Given the description of an element on the screen output the (x, y) to click on. 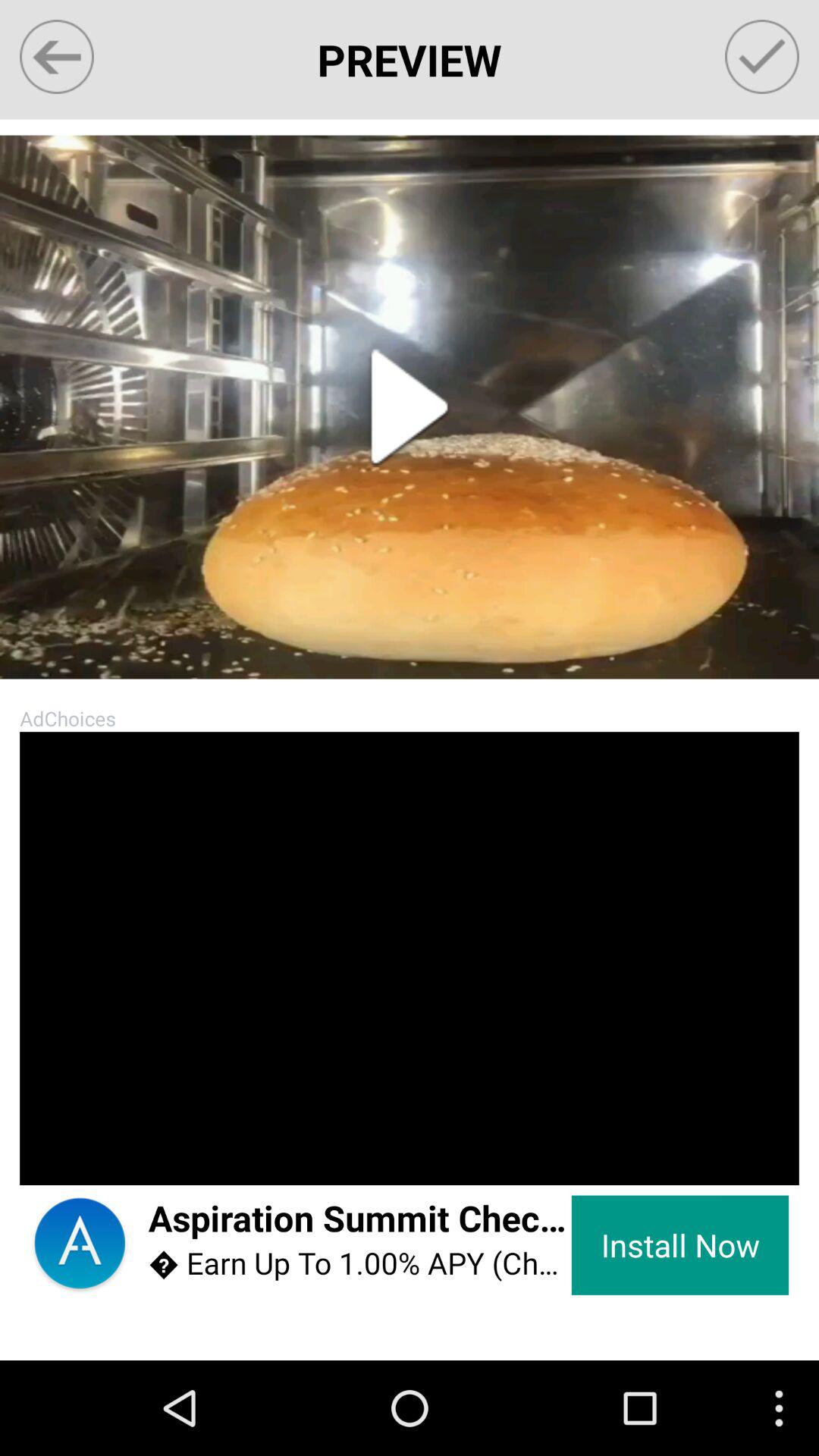
turn off icon to the right of aspiration summit checking app (679, 1245)
